Given the description of an element on the screen output the (x, y) to click on. 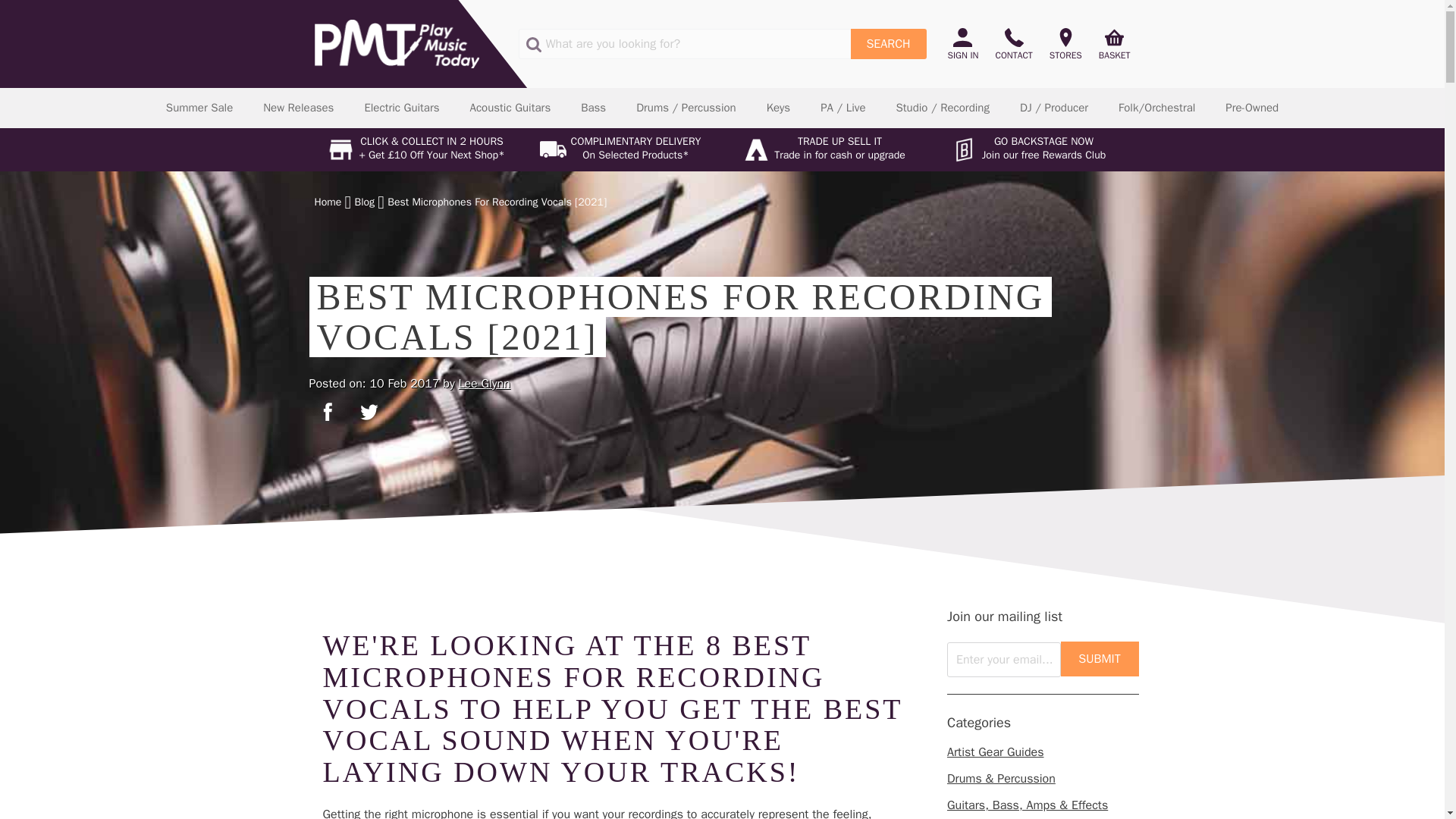
SEARCH (888, 43)
Summer Sale (199, 107)
BASKET (1110, 43)
CONTACT (1014, 43)
SIGN IN (967, 43)
Search (888, 43)
 Logo (396, 43)
Sign in to my account (967, 43)
STORES (1065, 43)
